Given the description of an element on the screen output the (x, y) to click on. 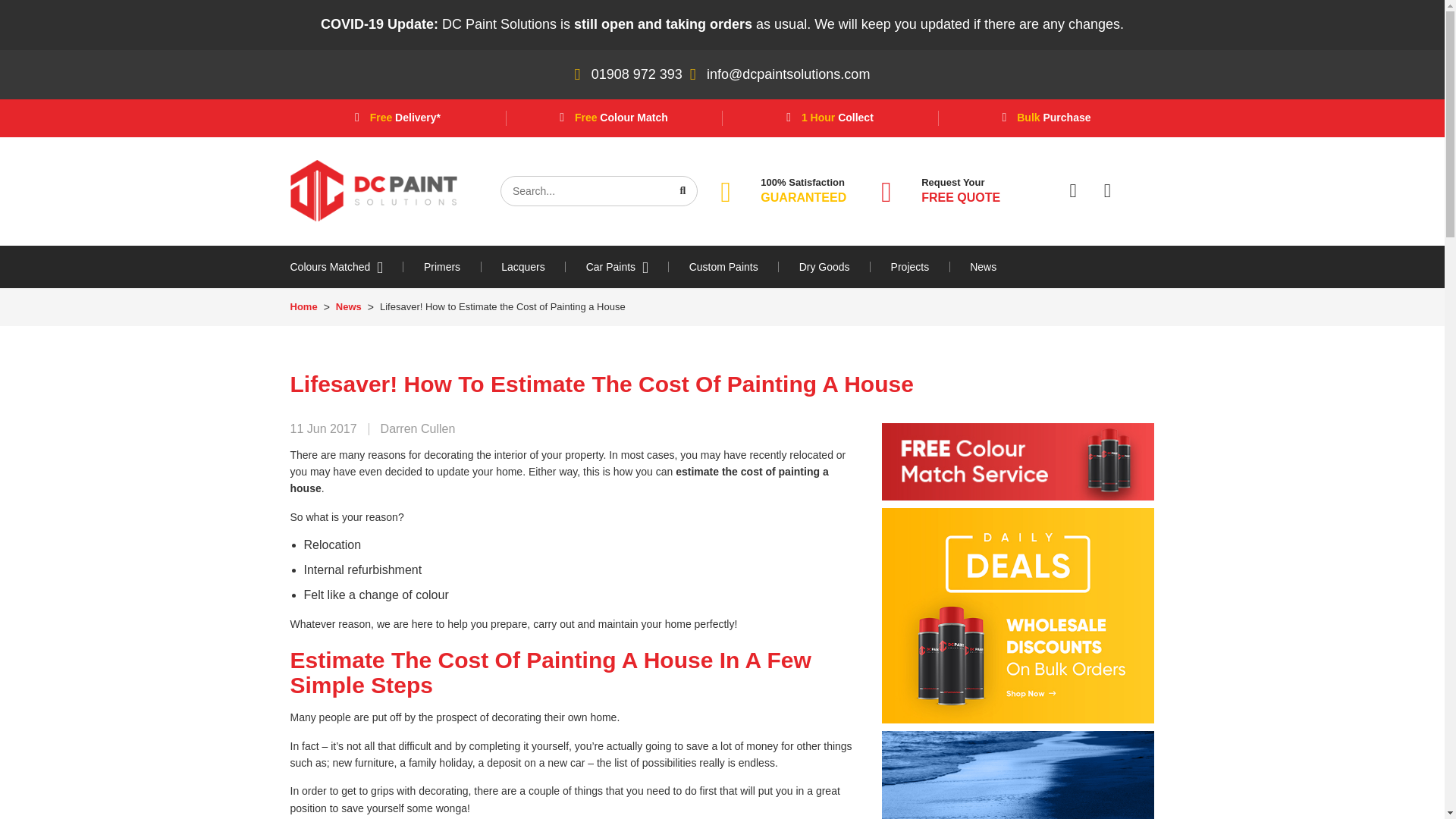
Email Us (787, 73)
Car Paints (617, 266)
Call Us (636, 73)
Paint Colours Matched (346, 266)
Primers (441, 266)
Colours Matched (346, 266)
DC Paint Solutions (373, 190)
01908 972 393 (636, 73)
Lacquers (523, 266)
